Given the description of an element on the screen output the (x, y) to click on. 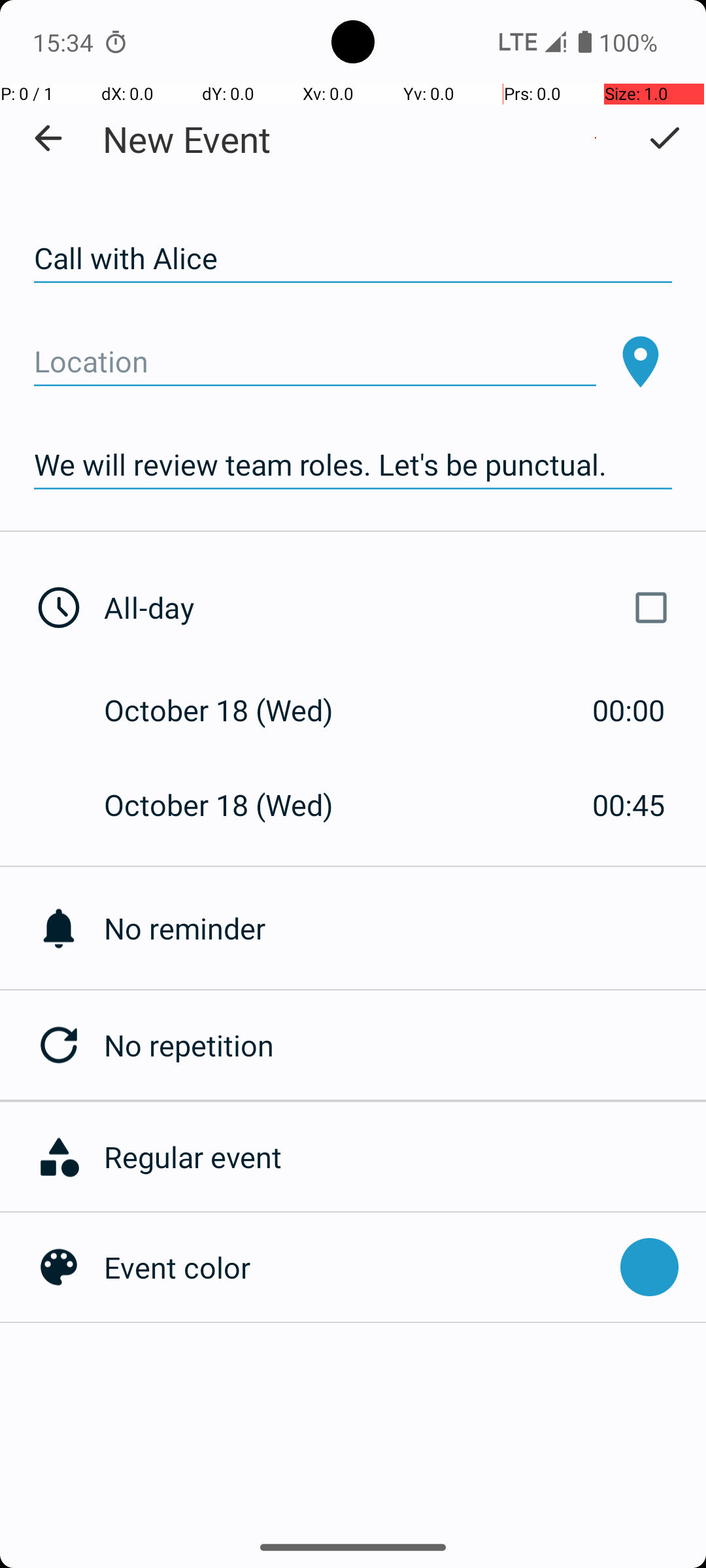
Call with Alice Element type: android.widget.EditText (352, 258)
We will review team roles. Let's be punctual. Element type: android.widget.EditText (352, 465)
October 18 (Wed) Element type: android.widget.TextView (232, 709)
00:00 Element type: android.widget.TextView (628, 709)
00:45 Element type: android.widget.TextView (628, 804)
